Given the description of an element on the screen output the (x, y) to click on. 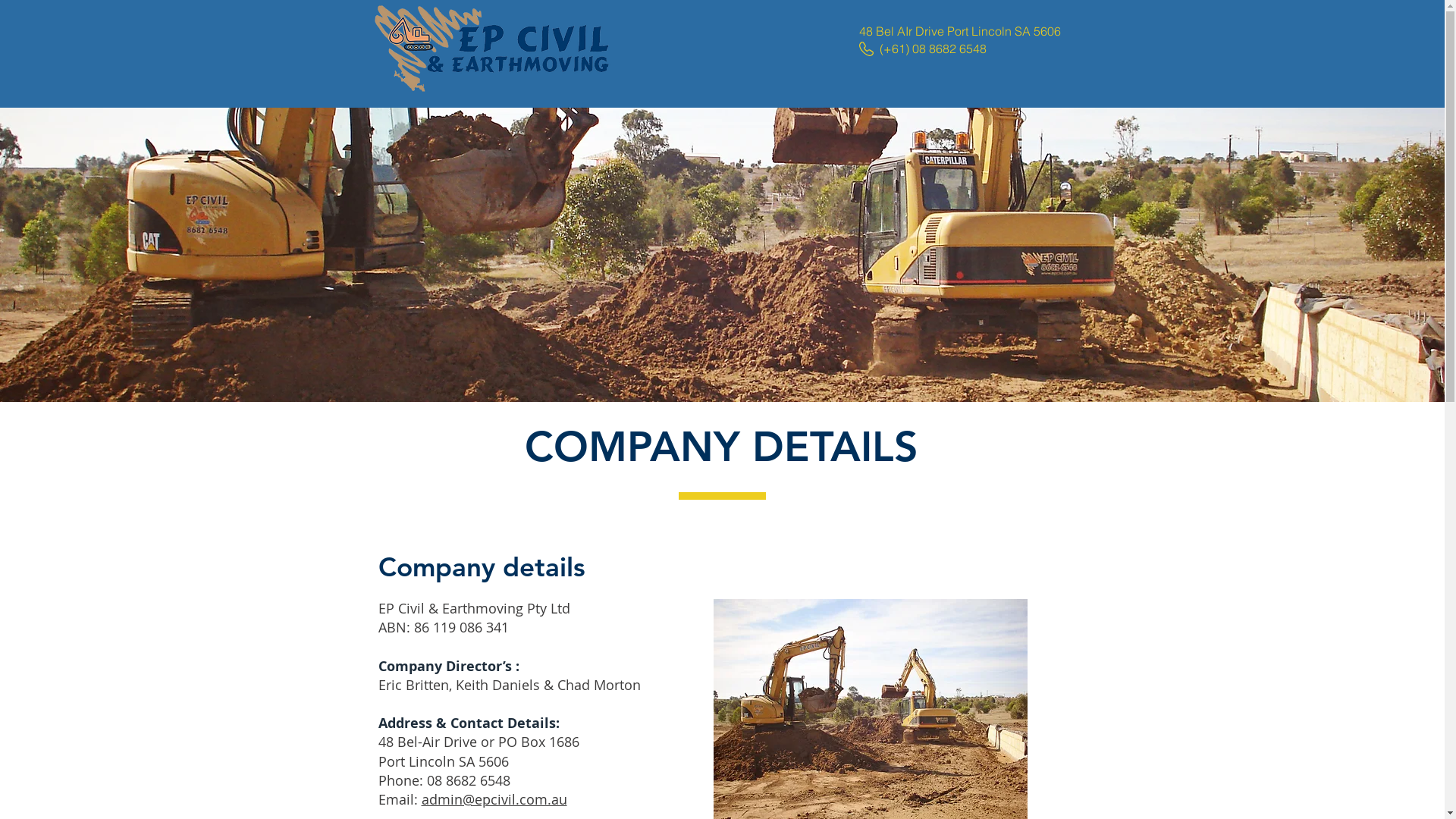
EPCivil-logo.png Element type: hover (491, 48)
admin@epcivil.com.au Element type: text (494, 799)
